Given the description of an element on the screen output the (x, y) to click on. 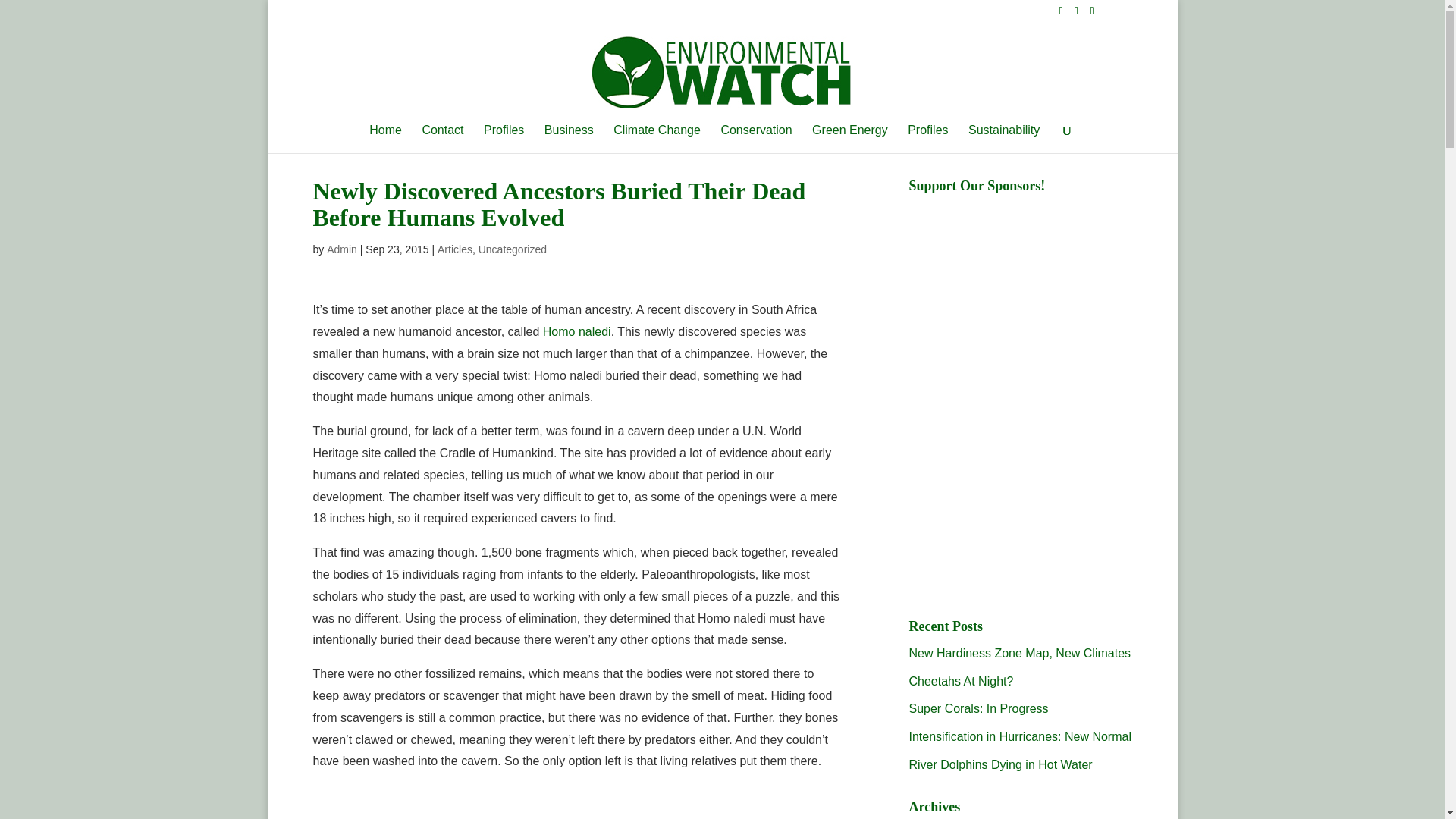
Contact (442, 139)
Home (385, 139)
Profiles (927, 139)
New Hardiness Zone Map, New Climates (1019, 653)
Homo naledi (577, 331)
Admin (341, 249)
Advertisement (1021, 493)
Posts by Admin (341, 249)
Articles (454, 249)
River Dolphins Dying in Hot Water (1000, 764)
